Given the description of an element on the screen output the (x, y) to click on. 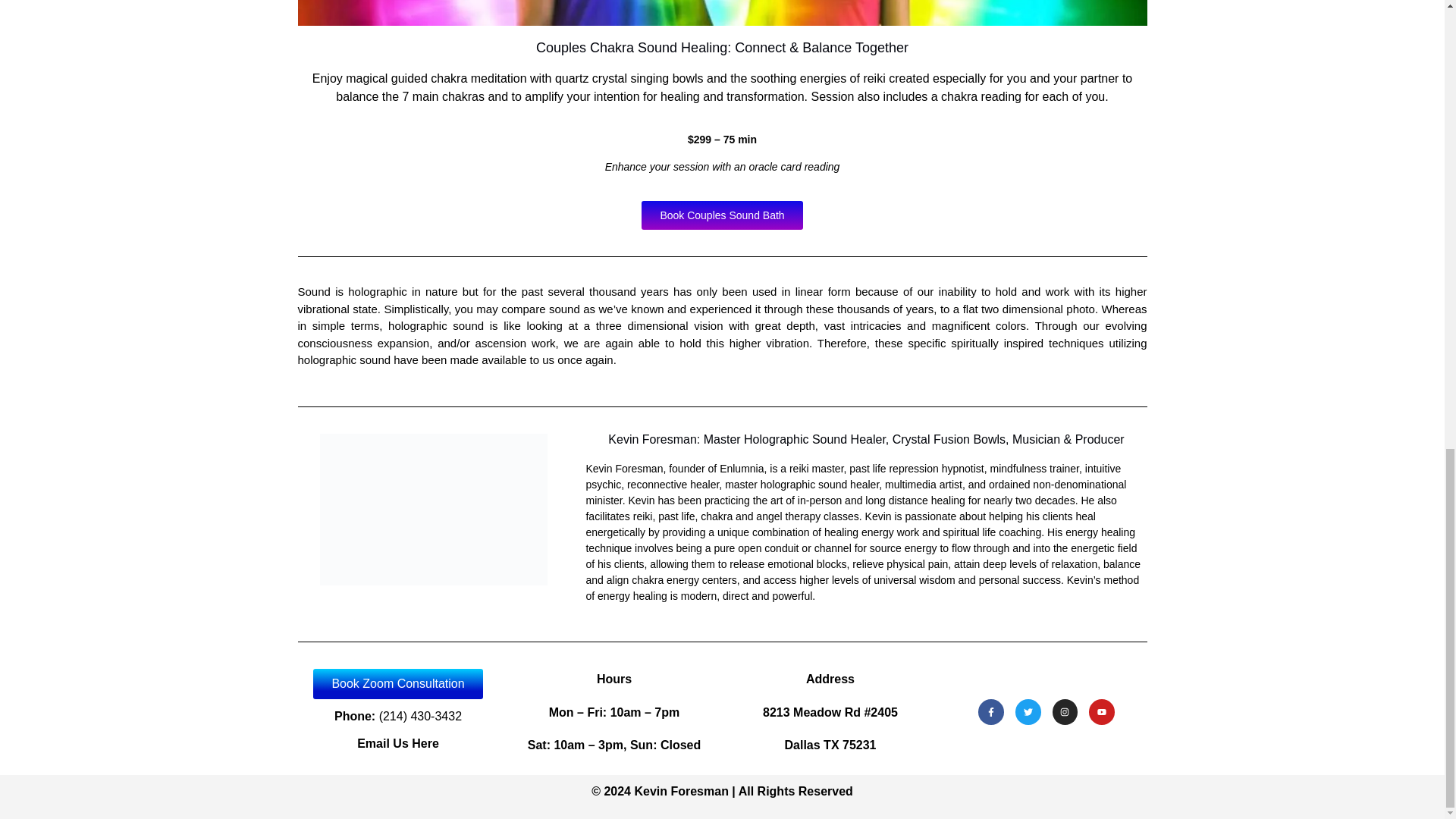
Book Couples Sound Bath (722, 215)
Book Zoom Consultation (397, 684)
Dallas TX 75231 (830, 744)
Email Us Here (397, 743)
